Given the description of an element on the screen output the (x, y) to click on. 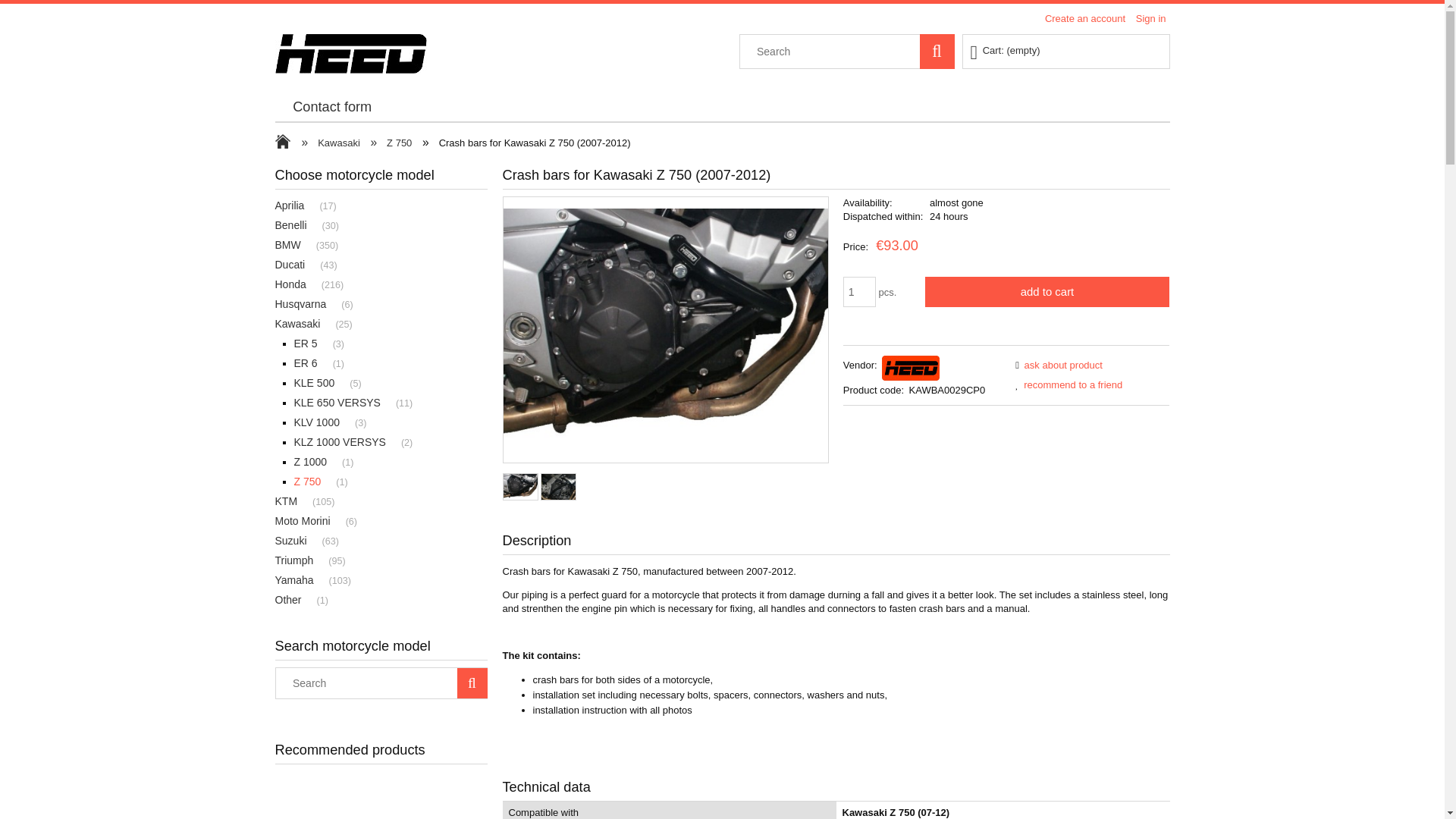
Honda (297, 284)
Z 750 (315, 481)
Suzuki (298, 540)
Benelli (298, 224)
Cart (1005, 50)
KTM (294, 500)
Create an account (1085, 18)
ER 5 (313, 343)
Honda (297, 284)
Moto Morini (310, 521)
